Given the description of an element on the screen output the (x, y) to click on. 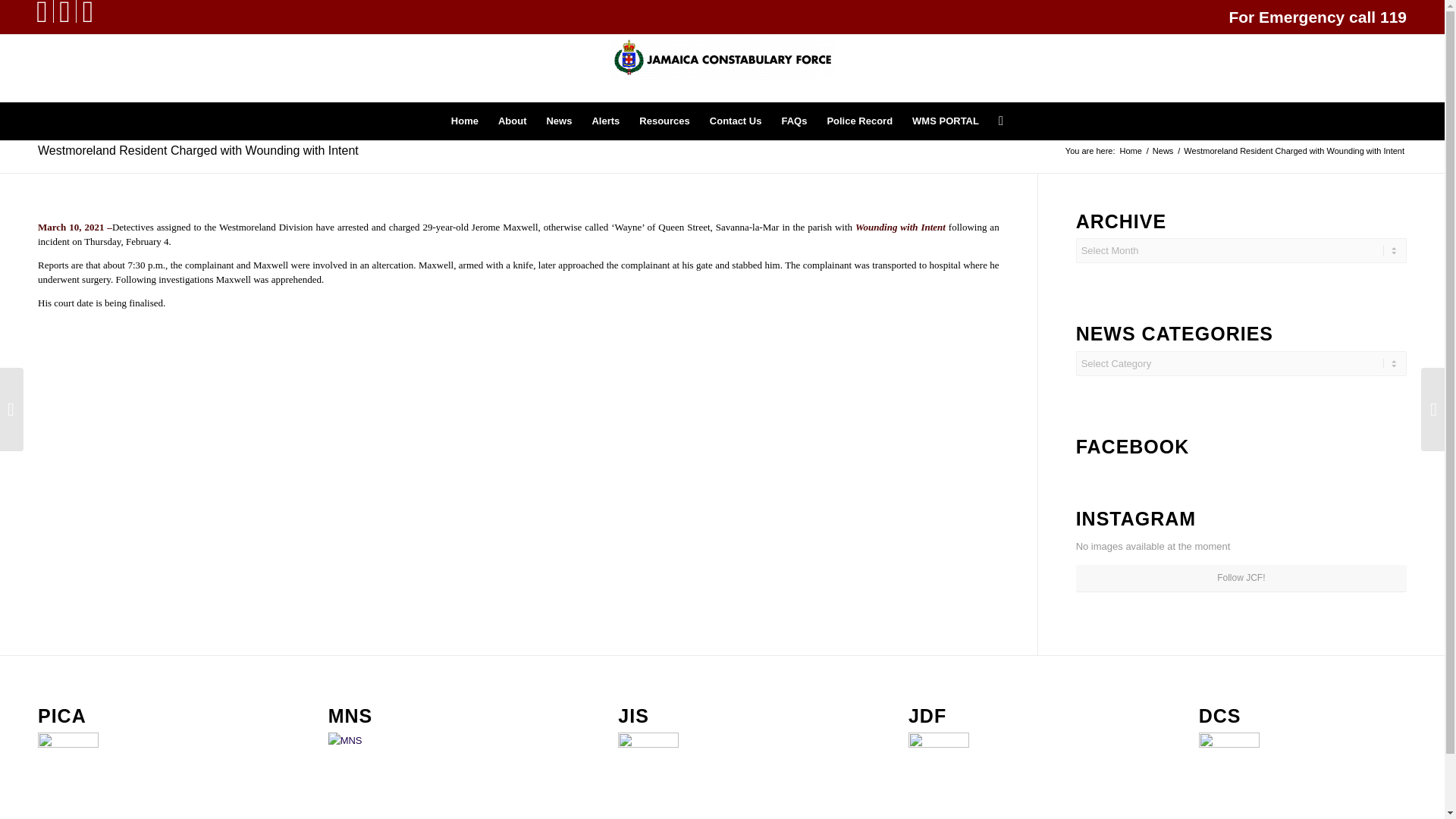
News (557, 121)
Police Record (859, 121)
Home (1131, 151)
WMS PORTAL (945, 121)
Westmoreland Resident Charged with Wounding with Intent (197, 150)
Home (464, 121)
Alerts (604, 121)
Jamaica Constabulary Force (1131, 151)
FAQs (793, 121)
Ministry of National Security (358, 762)
Instagram (64, 11)
Facebook (41, 11)
About (512, 121)
X (88, 11)
